Given the description of an element on the screen output the (x, y) to click on. 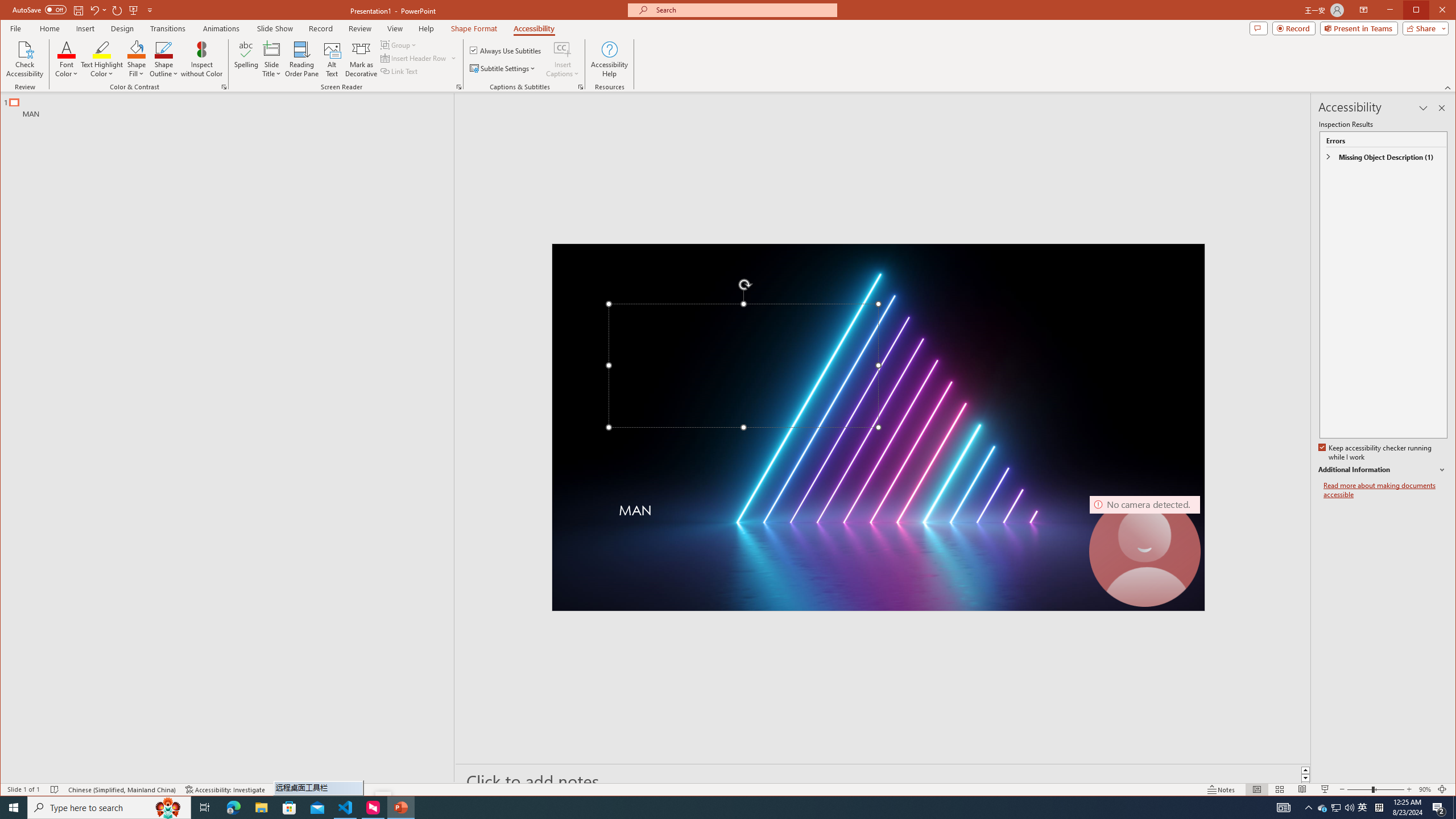
Text Highlight Color No Color (102, 48)
Captions & Subtitles (580, 86)
Slide Title (271, 48)
Zoom 90% (1424, 789)
